Given the description of an element on the screen output the (x, y) to click on. 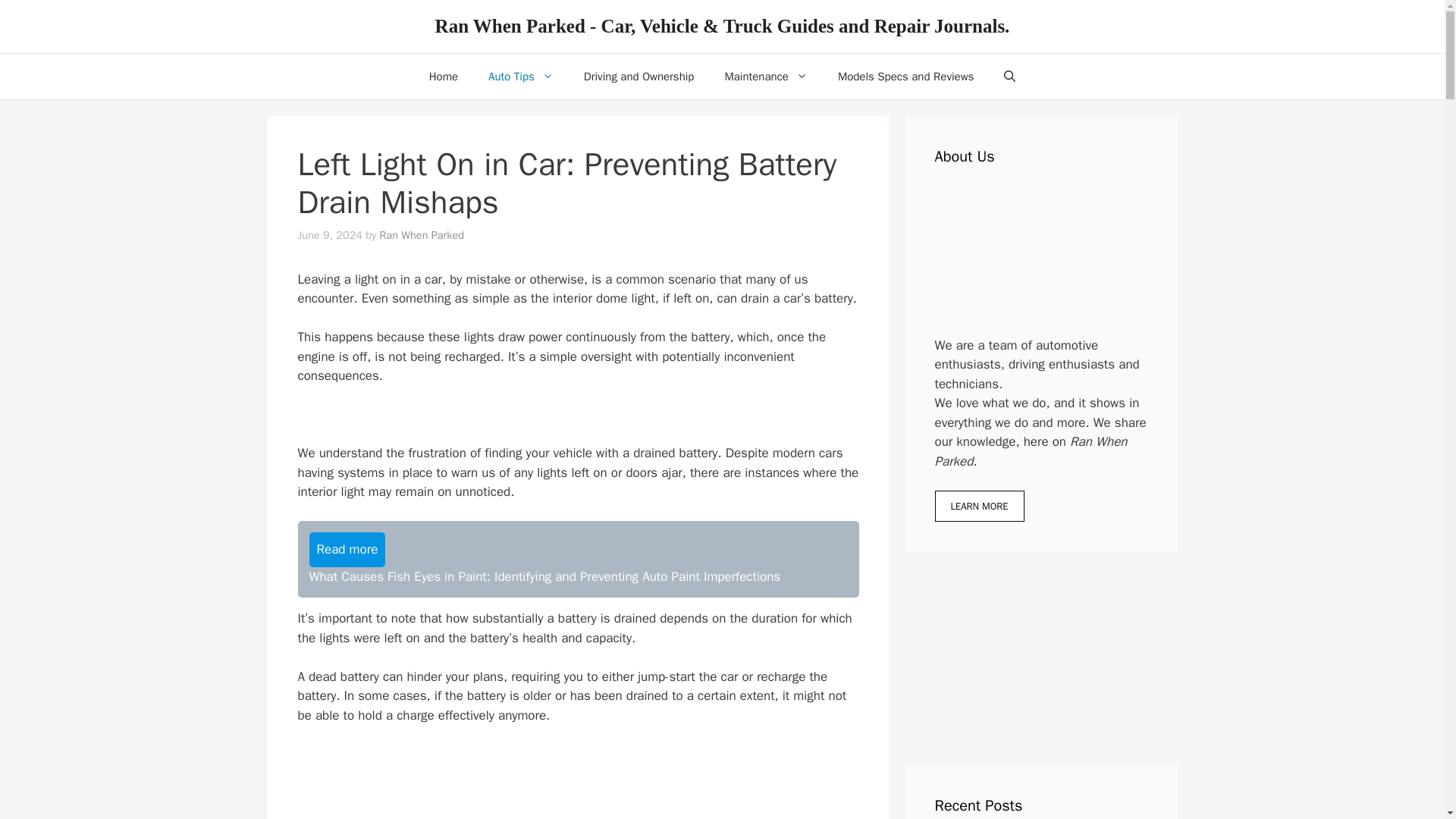
View all posts by Ran When Parked (421, 234)
Maintenance (765, 76)
Models Specs and Reviews (905, 76)
Ran When Parked (421, 234)
Driving and Ownership (639, 76)
Auto Tips (521, 76)
Home (443, 76)
